Given the description of an element on the screen output the (x, y) to click on. 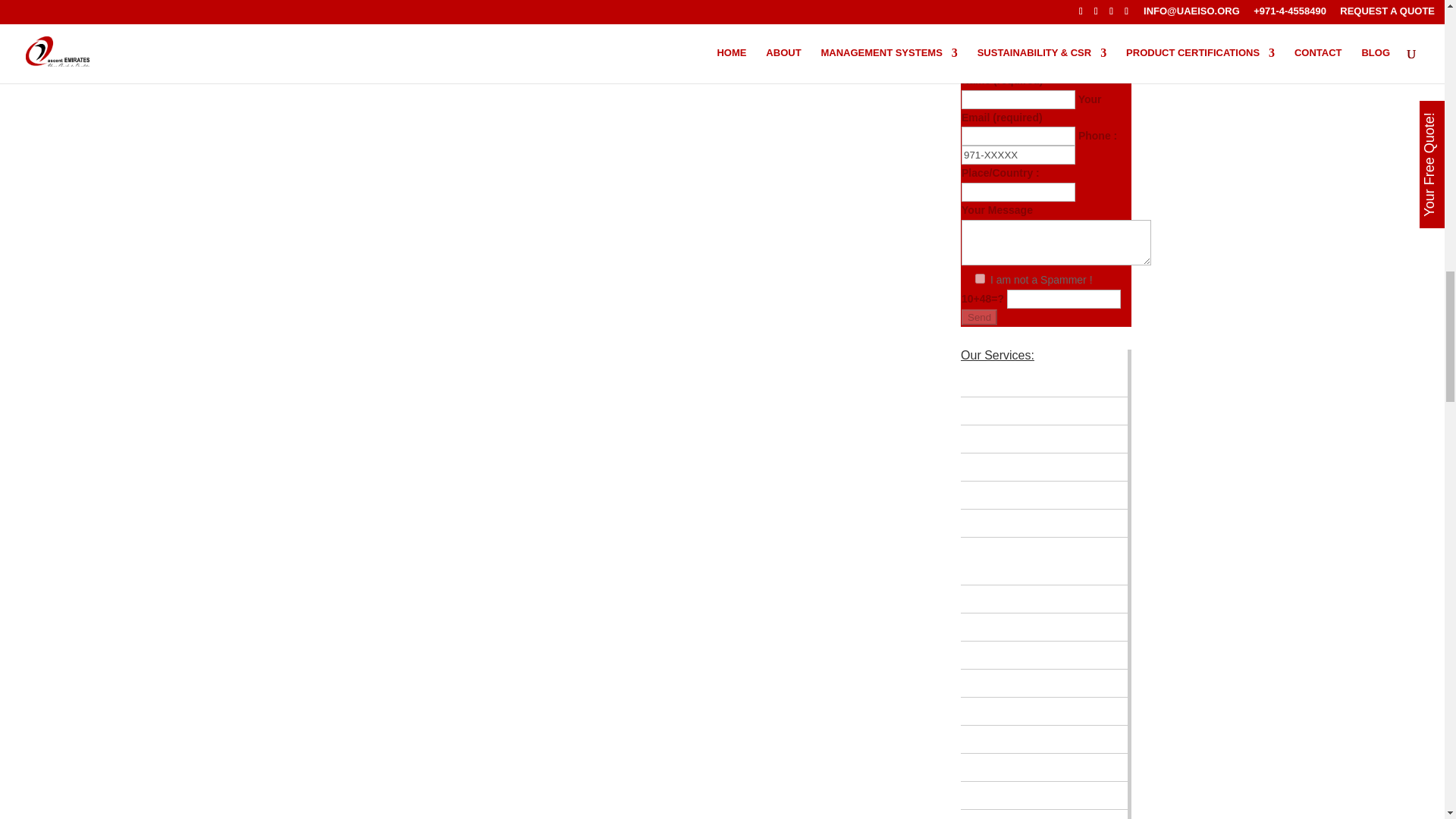
Send (978, 317)
971-XXXXX (1017, 154)
I am not a Spammer ! (980, 278)
